Given the description of an element on the screen output the (x, y) to click on. 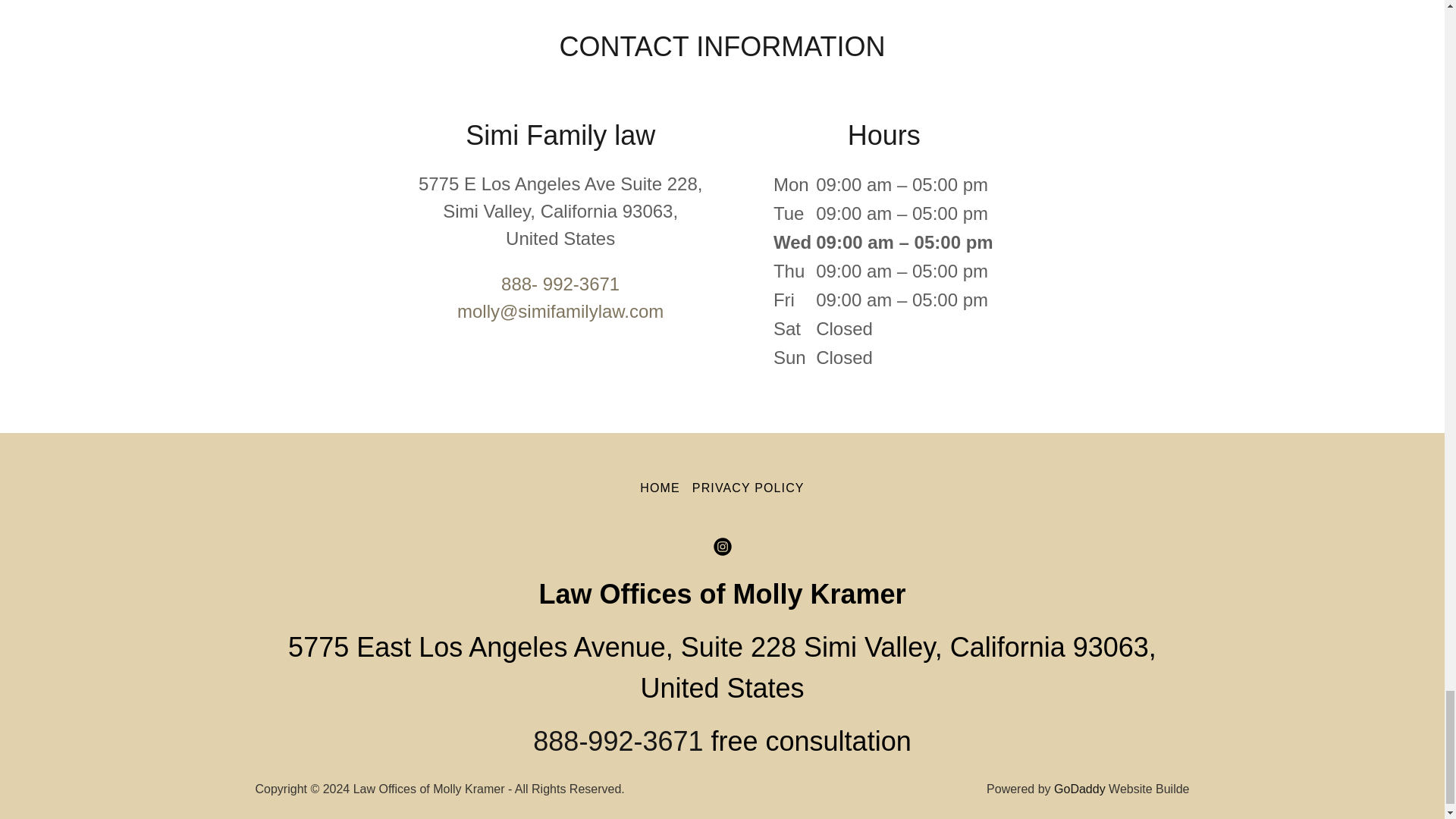
PRIVACY POLICY (747, 488)
888- 992-3671 (560, 283)
HOME (659, 488)
